Given the description of an element on the screen output the (x, y) to click on. 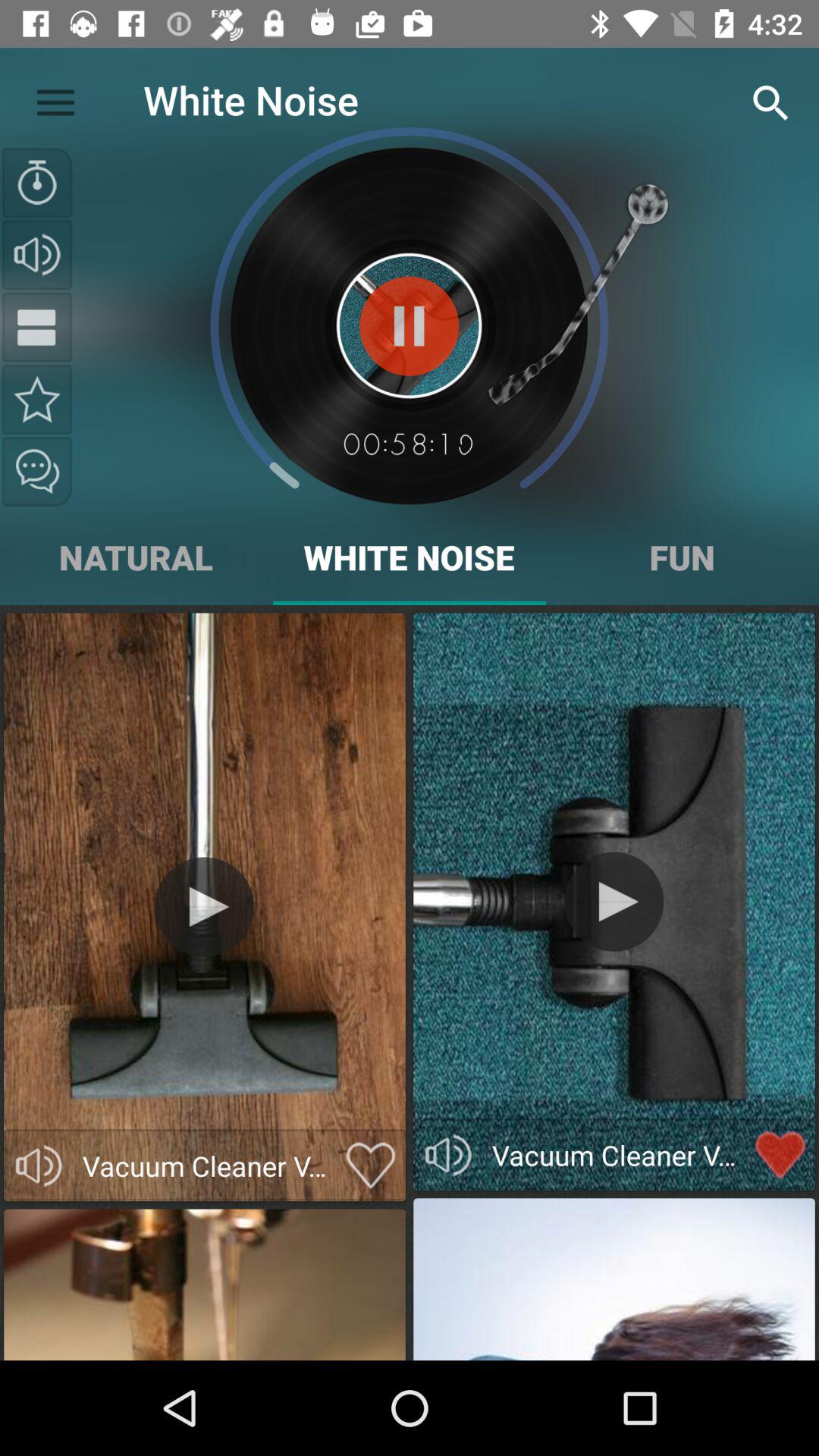
click on pause button (408, 325)
